Given the description of an element on the screen output the (x, y) to click on. 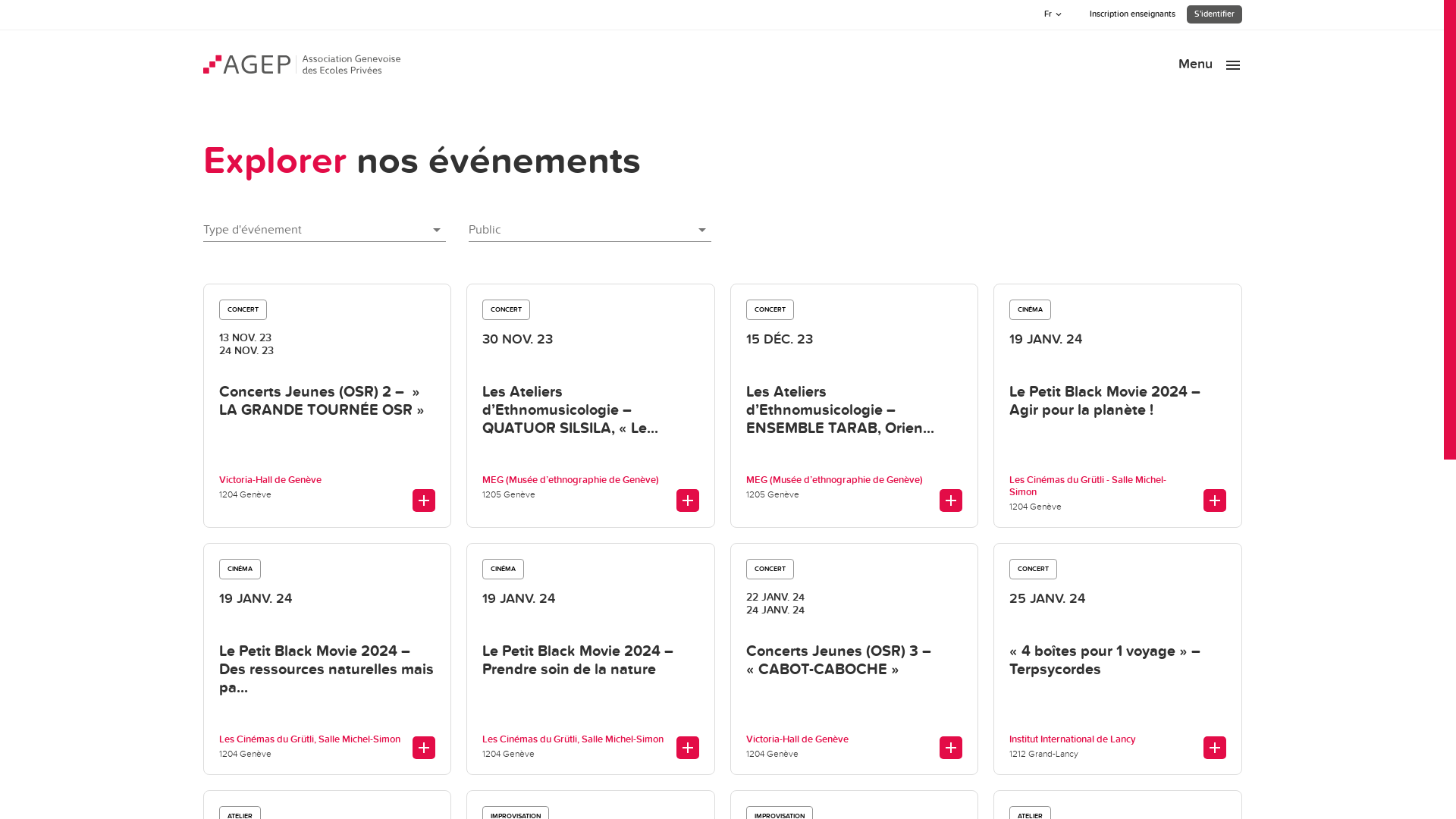
S'identifier Element type: text (1213, 14)
Inscription enseignants Element type: text (1131, 14)
Fr
keyboard_arrow_down Element type: text (1053, 14)
Menu
menu Element type: text (1210, 63)
